Given the description of an element on the screen output the (x, y) to click on. 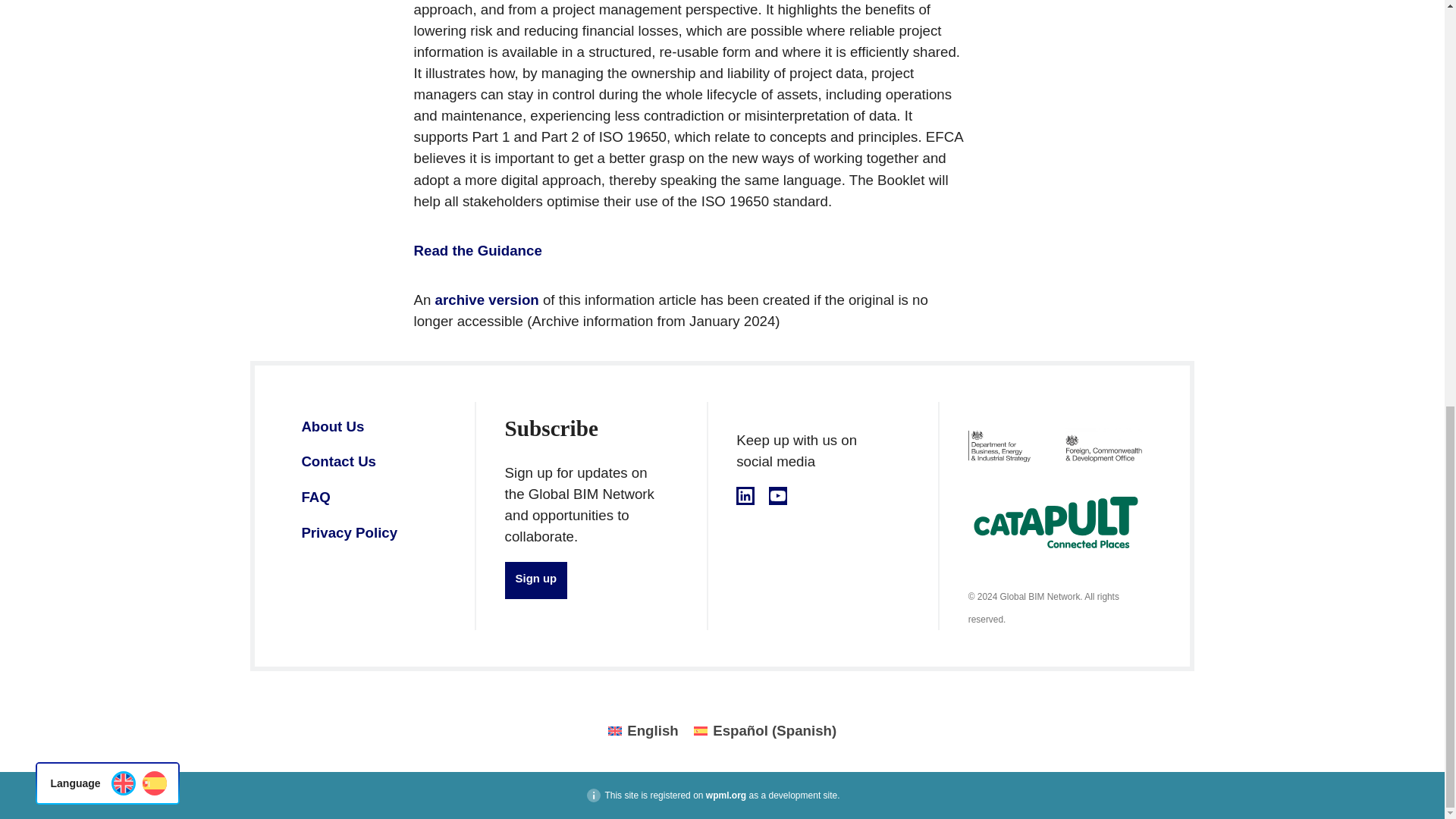
Contact Us (338, 461)
About Us (332, 426)
archive version (486, 299)
Archive Download from 2024-01 (486, 299)
Read the Guidance (477, 250)
